Given the description of an element on the screen output the (x, y) to click on. 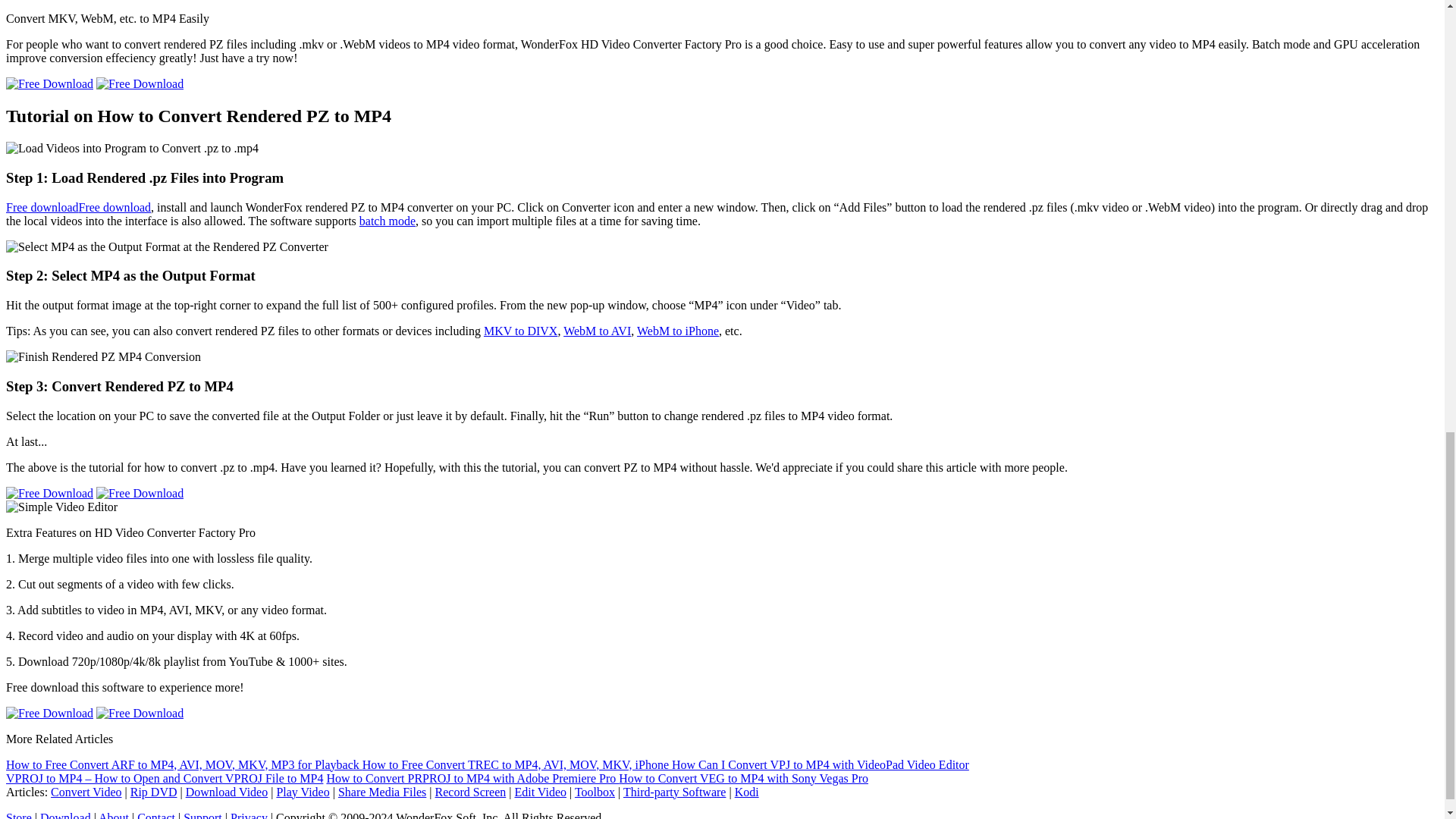
batch mode (386, 220)
Free download (41, 206)
WebM to AVI (596, 330)
MKV to DIVX (520, 330)
WebM to iPhone (678, 330)
Free download (114, 206)
